Given the description of an element on the screen output the (x, y) to click on. 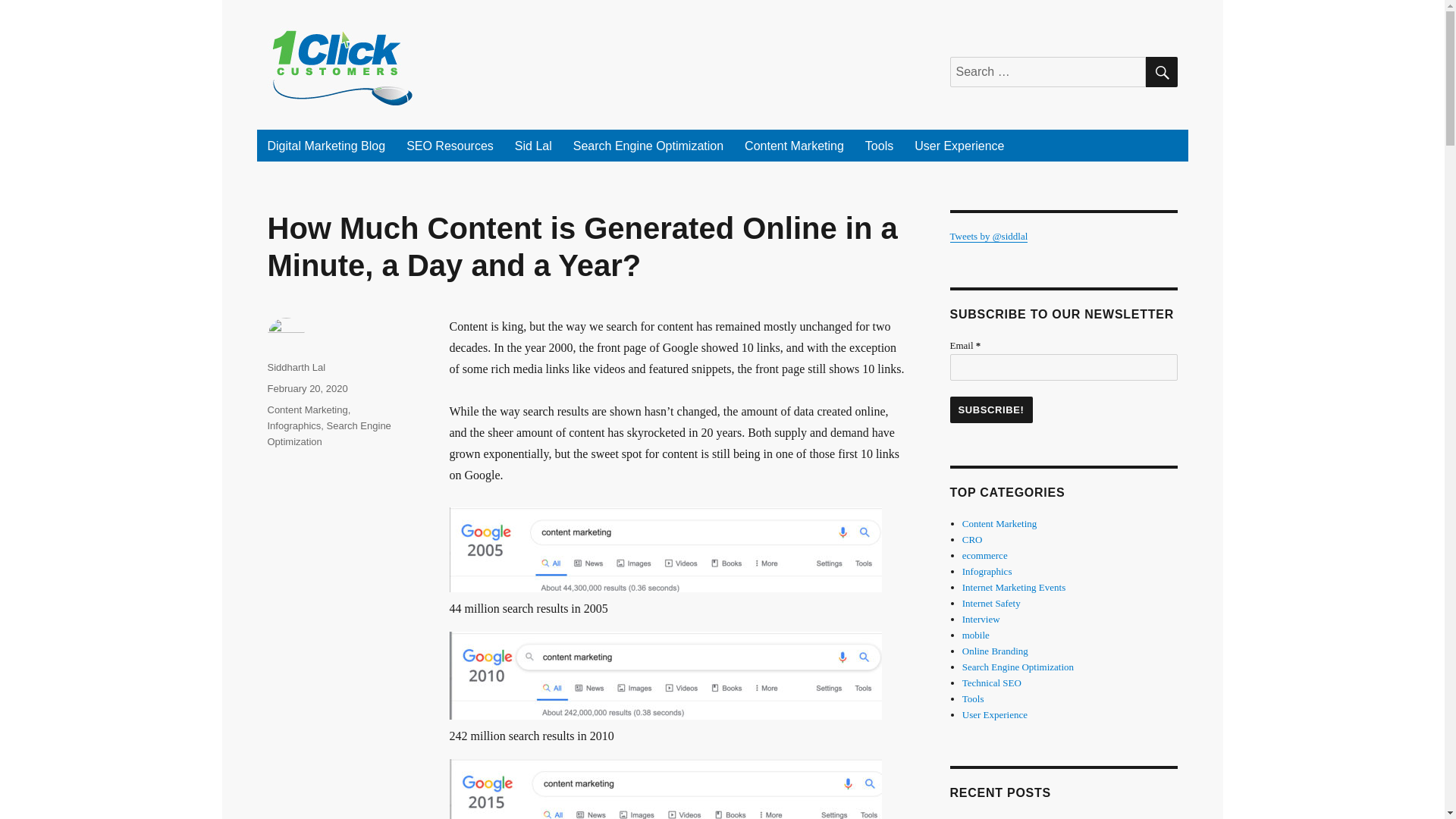
Tools (879, 145)
Search Engine Optimization (647, 145)
Search for: (1046, 71)
Home (326, 145)
Content Marketing (793, 145)
Siddharth Lal (295, 367)
Sid Lal (532, 145)
February 20, 2020 (306, 388)
User Experience (959, 145)
Digital Marketing Blog (326, 145)
Email (1062, 366)
SEARCH (1160, 71)
Subscribe! (990, 409)
SEO Resources (449, 145)
